Given the description of an element on the screen output the (x, y) to click on. 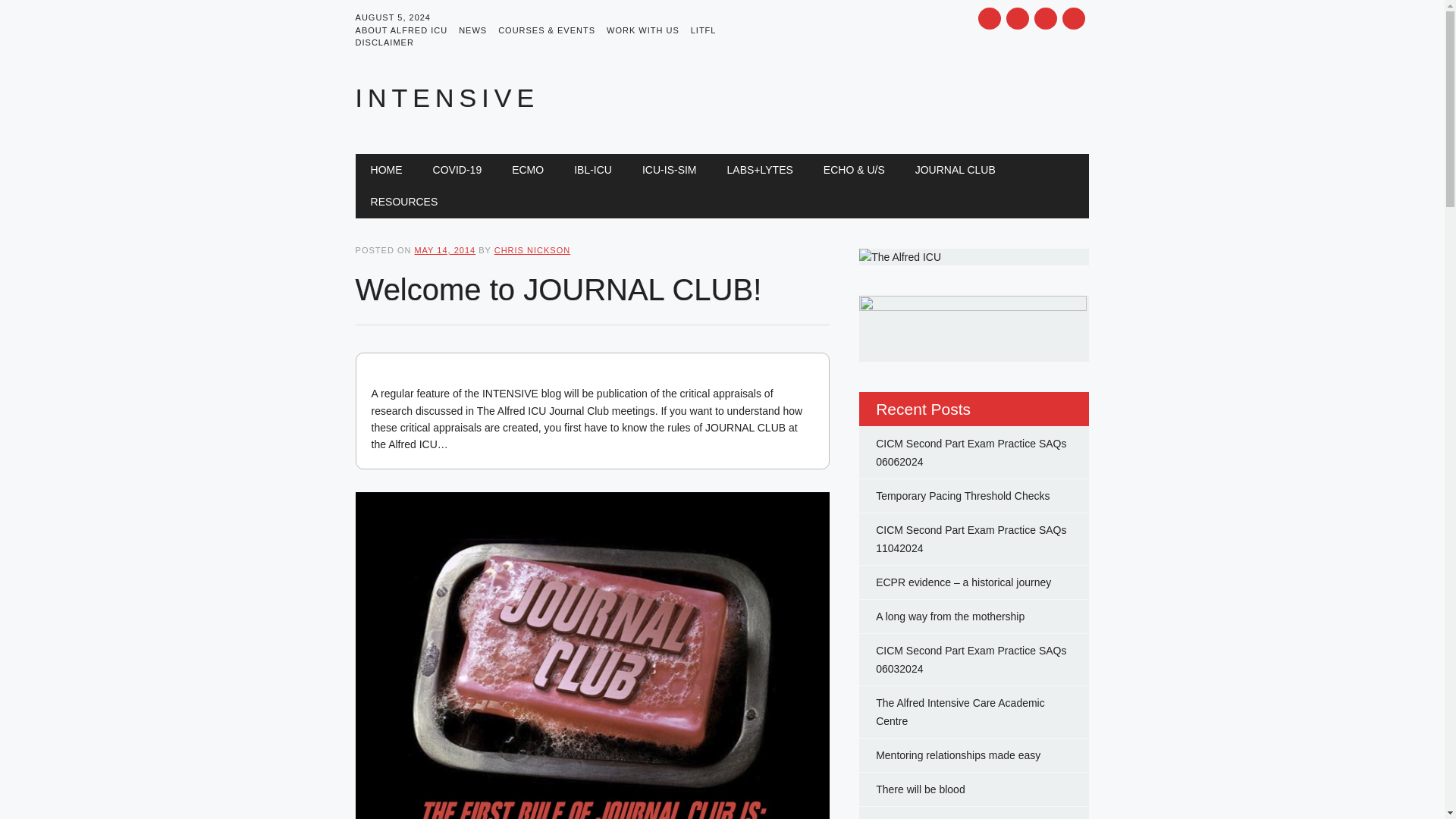
RESOURCES (403, 201)
ICU-IS-SIM (669, 169)
INTENSIVE (446, 97)
JOURNAL CLUB (954, 169)
COVID-19 (457, 169)
WORK WITH US (648, 30)
LITFL (709, 30)
HOME (386, 169)
NEWS (477, 30)
View all posts by Chris Nickson (532, 249)
RSS (1045, 18)
Disclaimer (403, 201)
INTENSIVE (446, 97)
Youtube (1017, 18)
IBL-ICU (593, 169)
